Given the description of an element on the screen output the (x, y) to click on. 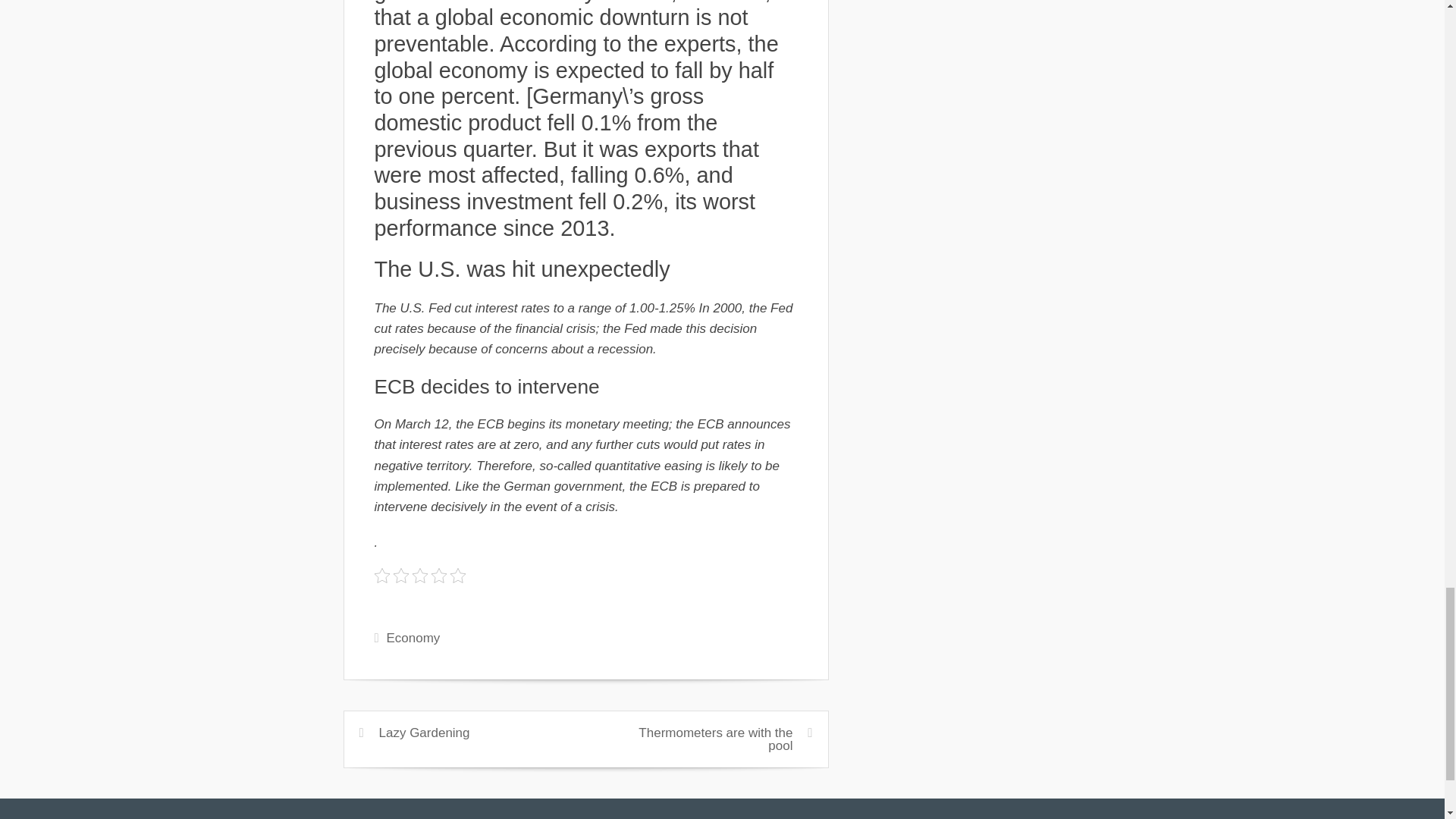
Economy (412, 637)
Thermometers are with the pool (715, 738)
Lazy Gardening (424, 732)
